Given the description of an element on the screen output the (x, y) to click on. 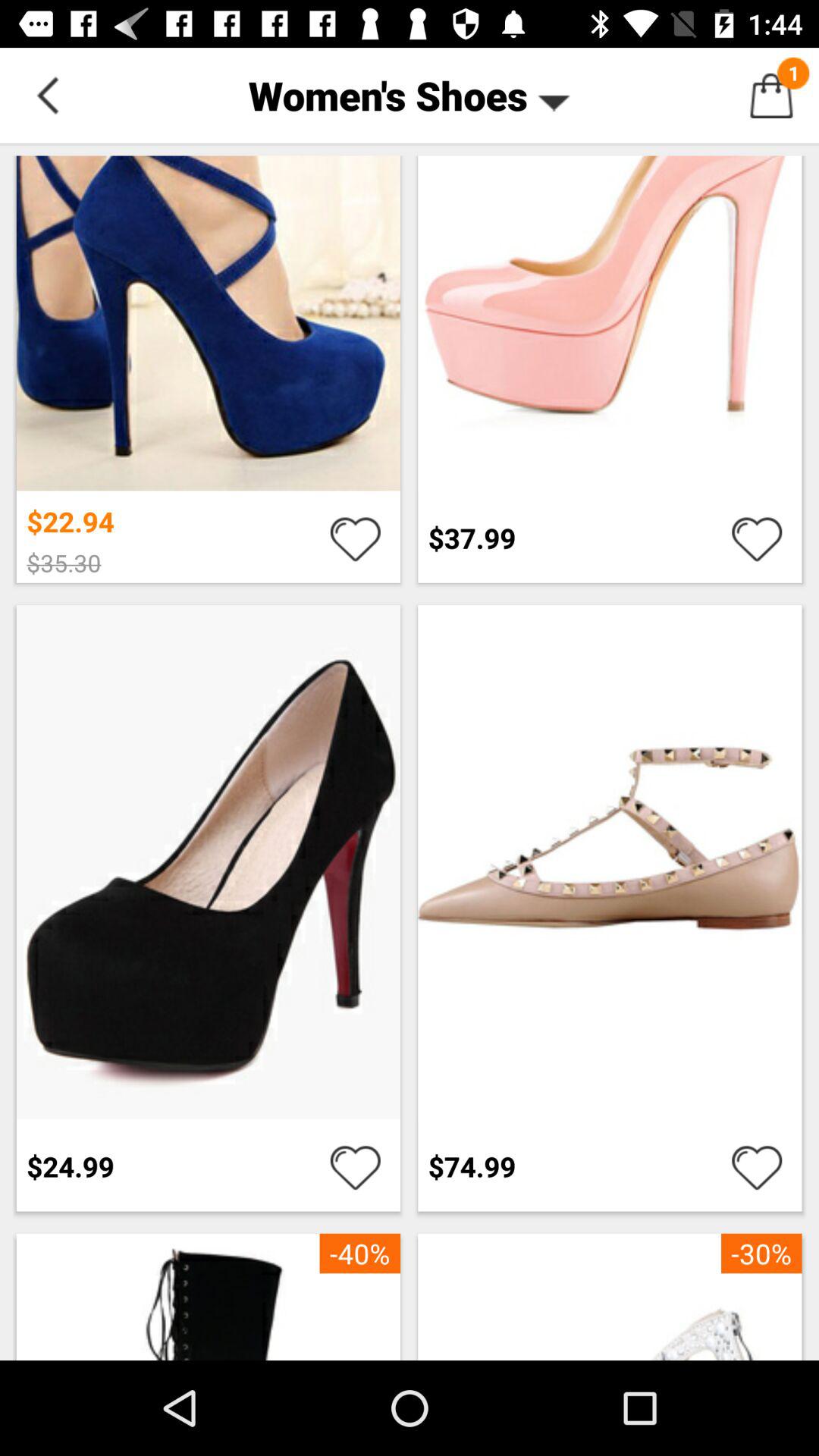
turn off item to the left of women's shoes button (47, 95)
